Given the description of an element on the screen output the (x, y) to click on. 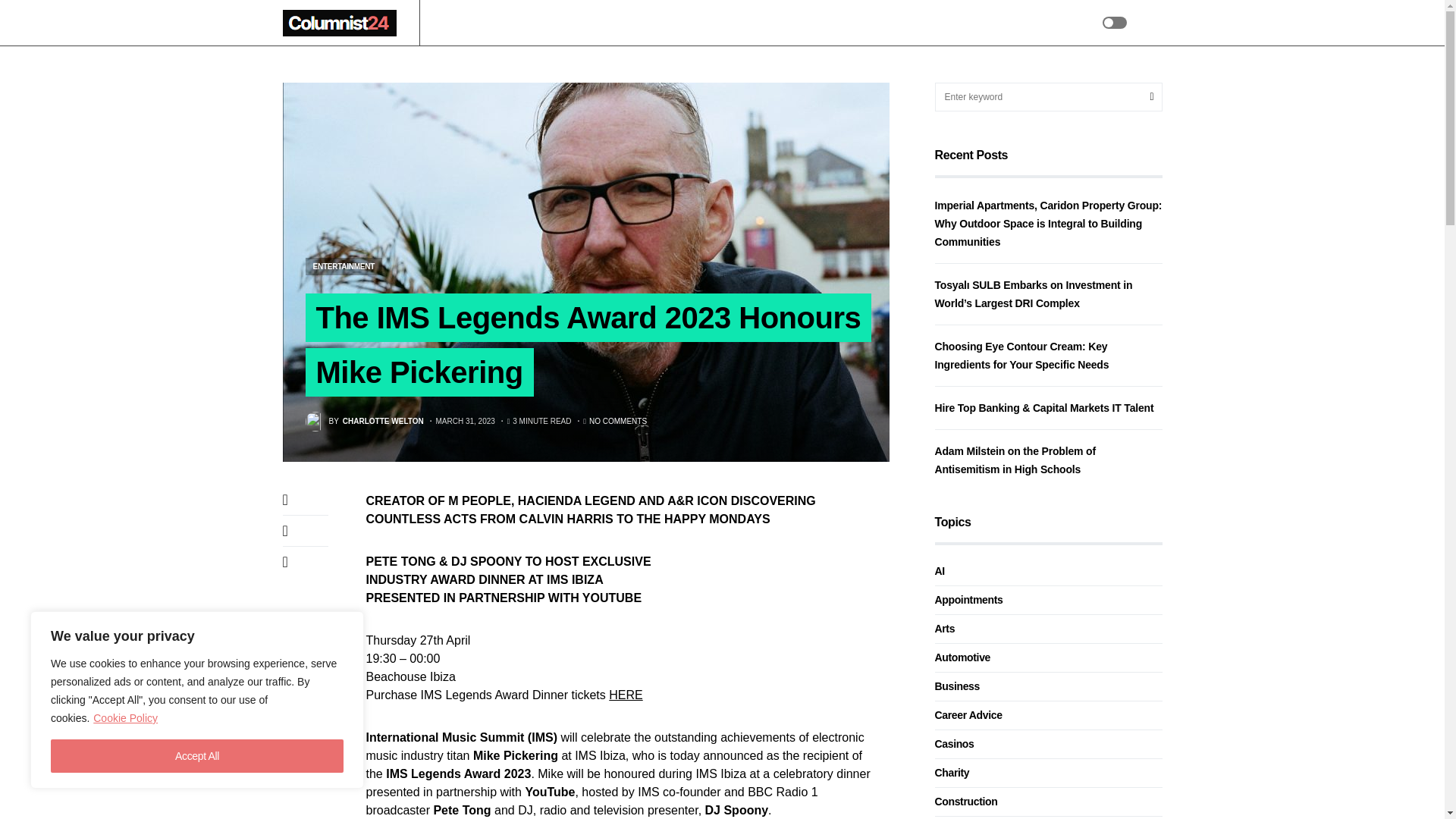
Business (514, 22)
Cookie Policy (125, 717)
View all posts by Charlotte Welton (363, 421)
Accept All (196, 756)
All News (456, 22)
Technology (633, 22)
Write For Us (829, 22)
Social Media (753, 22)
